Given the description of an element on the screen output the (x, y) to click on. 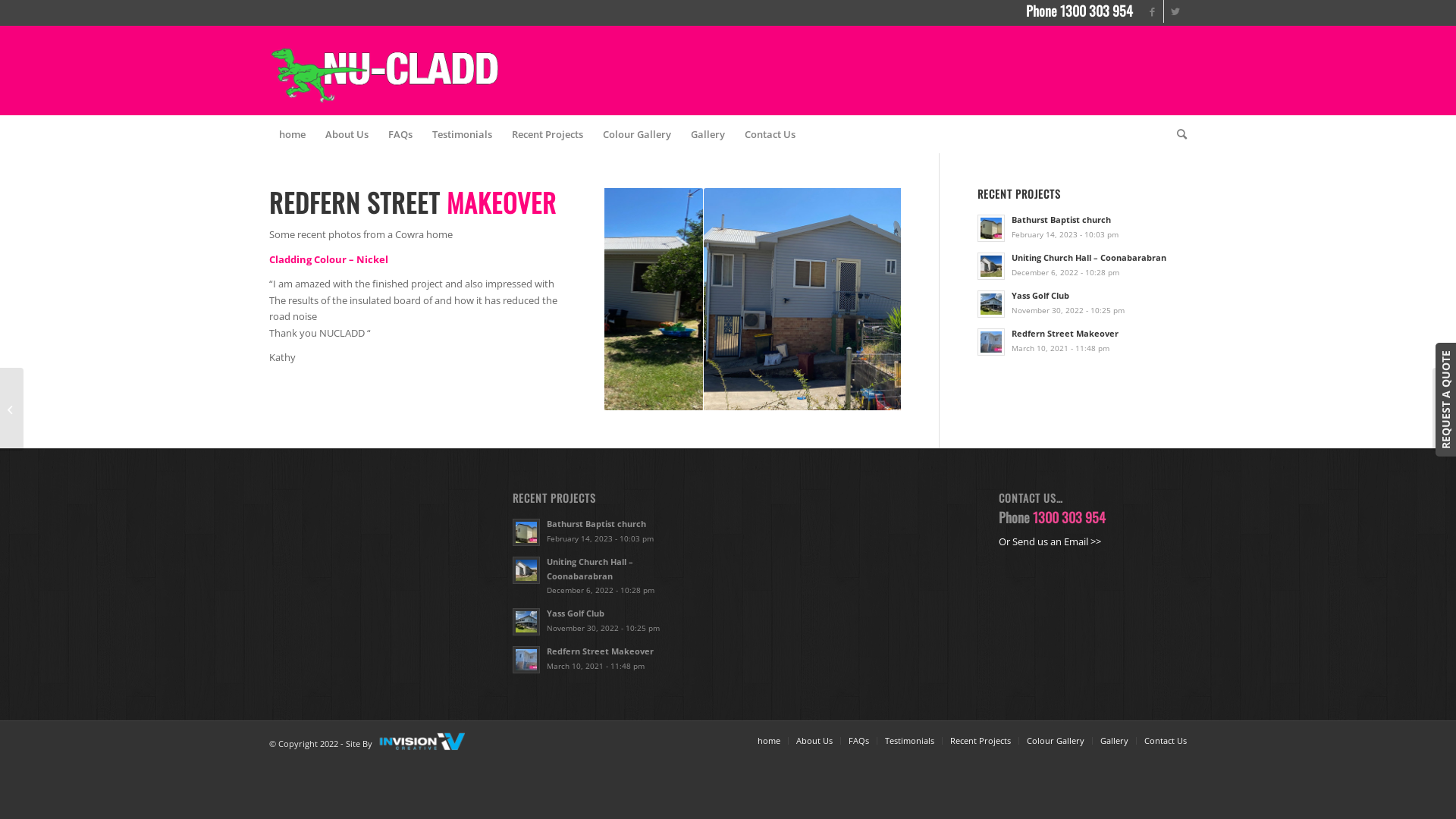
Gallery Element type: text (707, 134)
FAQs Element type: text (400, 134)
redfern_cowra2 Element type: hover (740, 299)
Gallery Element type: text (1114, 740)
Testimonials Element type: text (462, 134)
Bathurst Baptist church
February 14, 2023 - 10:03 pm Element type: text (1081, 226)
Recent Projects Element type: text (980, 740)
Redfern Street Makeover
March 10, 2021 - 11:48 pm Element type: text (1081, 340)
logo2 Element type: hover (385, 70)
Contact Us Element type: text (1165, 740)
Twitter Element type: hover (1175, 11)
Or Send us an Email >> Element type: text (1049, 541)
Contact Us Element type: text (769, 134)
Colour Gallery Element type: text (636, 134)
Recent Projects Element type: text (547, 134)
Yass Golf Club
November 30, 2022 - 10:25 pm Element type: text (1081, 302)
Bathurst Baptist church
February 14, 2023 - 10:03 pm Element type: text (606, 530)
Yass Golf Club
November 30, 2022 - 10:25 pm Element type: text (606, 620)
Redfern Street Makeover
March 10, 2021 - 11:48 pm Element type: text (606, 658)
About Us Element type: text (814, 740)
About Us Element type: text (346, 134)
home Element type: text (292, 134)
redfern_cowra1 Element type: hover (1034, 299)
Facebook Element type: hover (1152, 11)
home Element type: text (768, 740)
Testimonials Element type: text (909, 740)
Colour Gallery Element type: text (1055, 740)
FAQs Element type: text (858, 740)
